Given the description of an element on the screen output the (x, y) to click on. 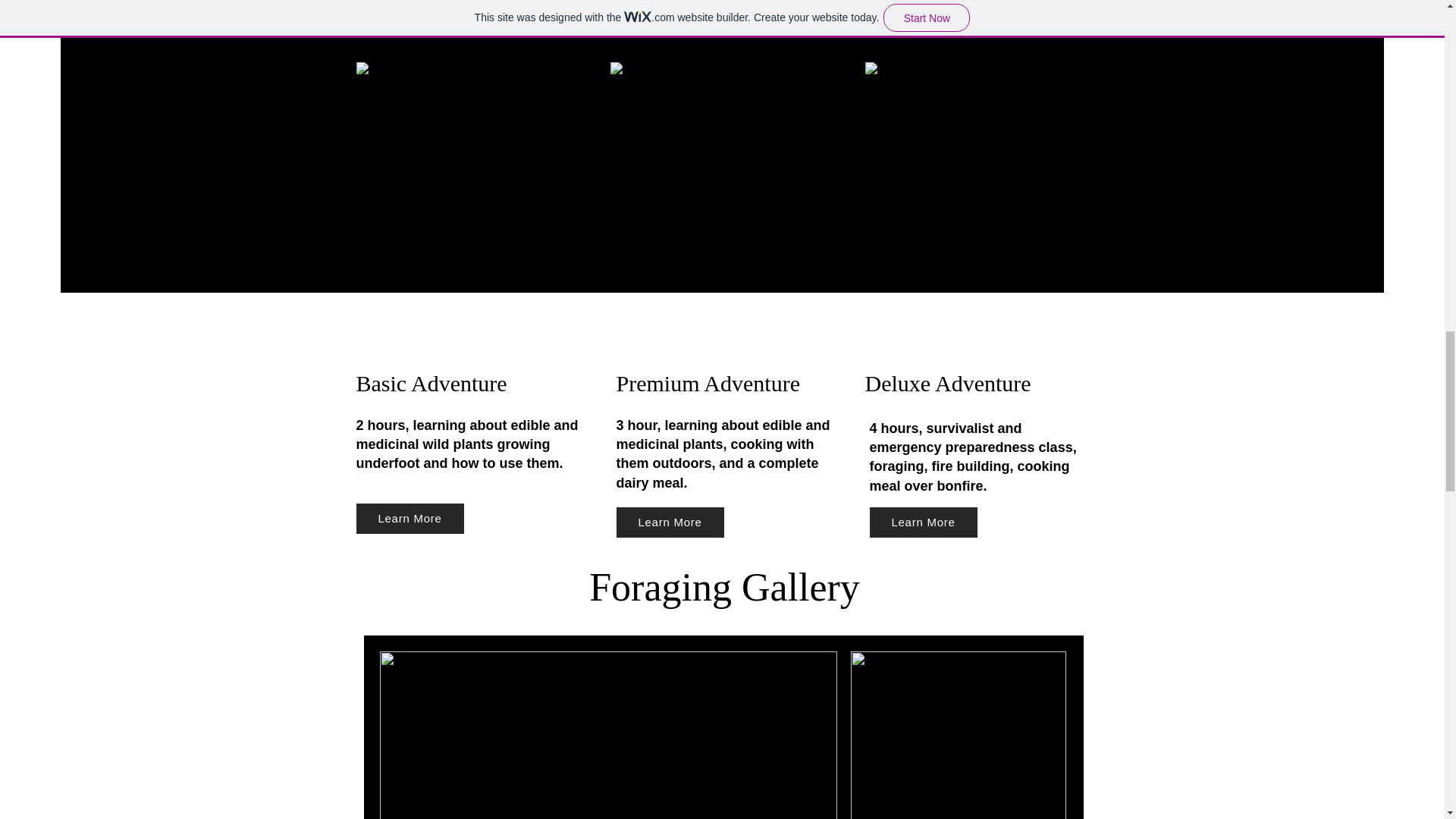
Learn More (922, 521)
test.jpg (957, 735)
Learn More (669, 521)
Learn More (410, 518)
